Given the description of an element on the screen output the (x, y) to click on. 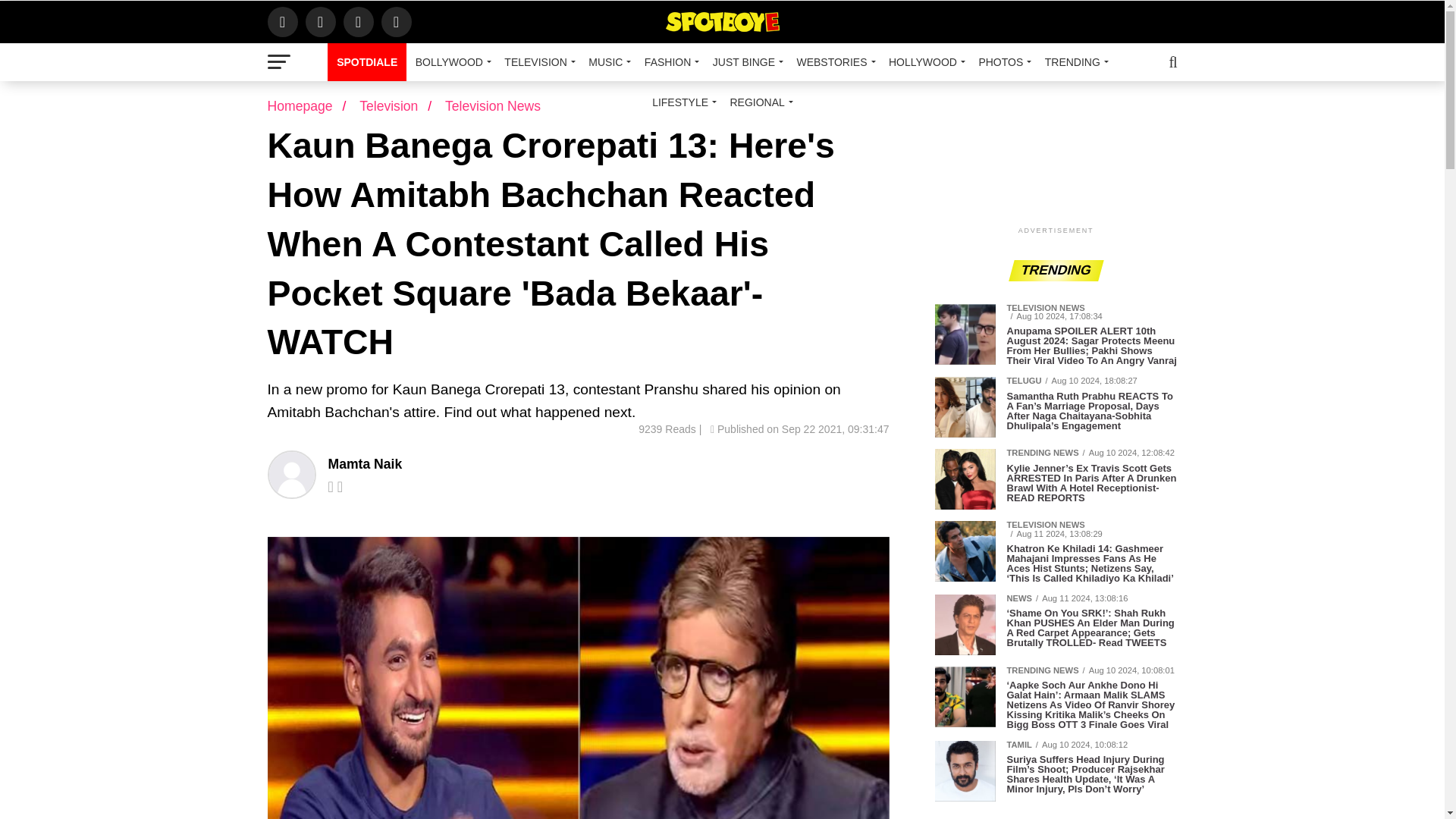
SPOTDIALE (366, 62)
PHOTOS (1002, 62)
TELEVISION (537, 62)
WEBSTORIES (833, 62)
Posts by  Mamta Naik  (364, 463)
JUST BINGE (745, 62)
TRENDING (1074, 62)
REGIONAL (758, 102)
MUSIC (606, 62)
BOLLYWOOD (451, 62)
